Given the description of an element on the screen output the (x, y) to click on. 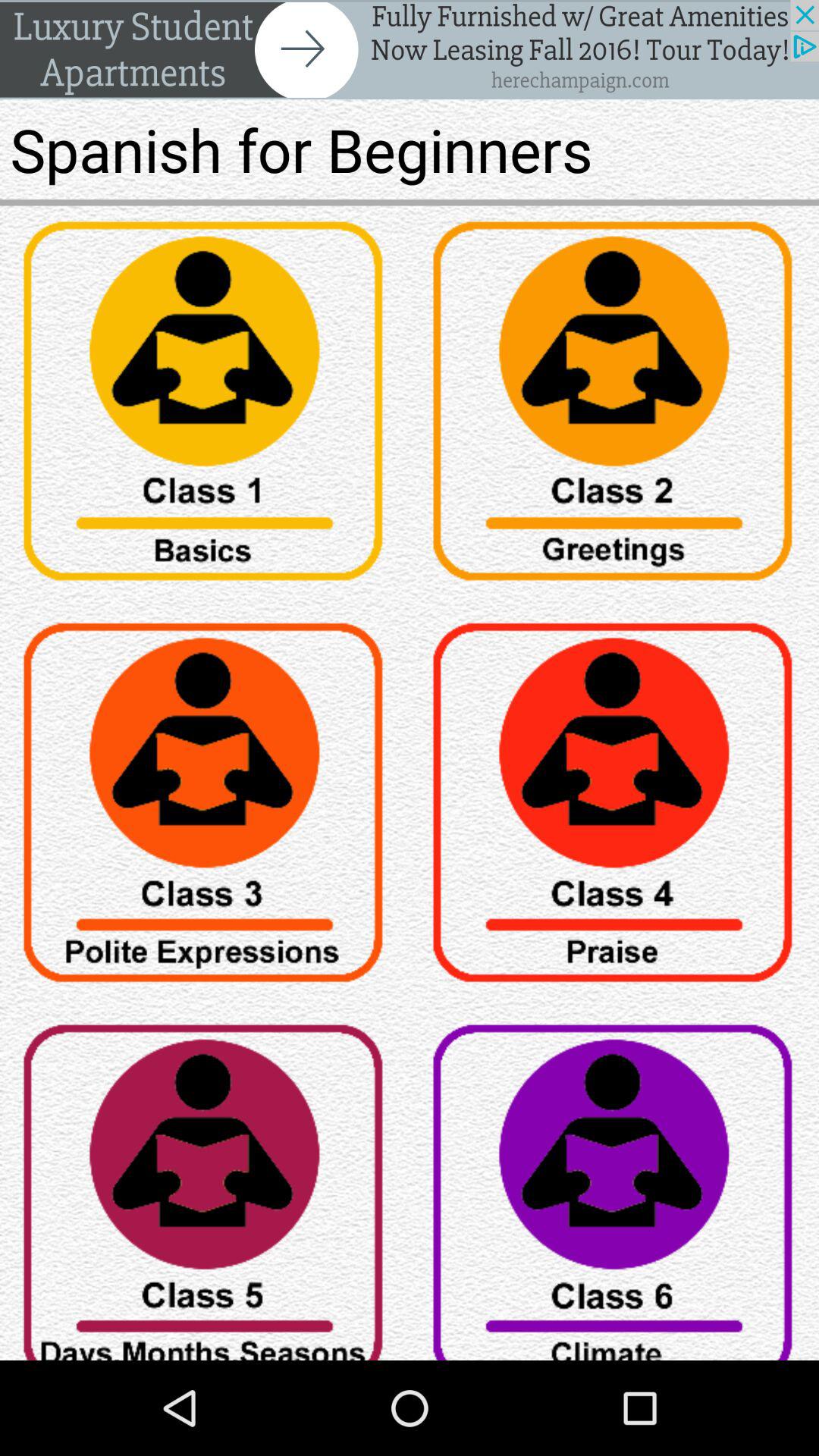
select class one (204, 406)
